Given the description of an element on the screen output the (x, y) to click on. 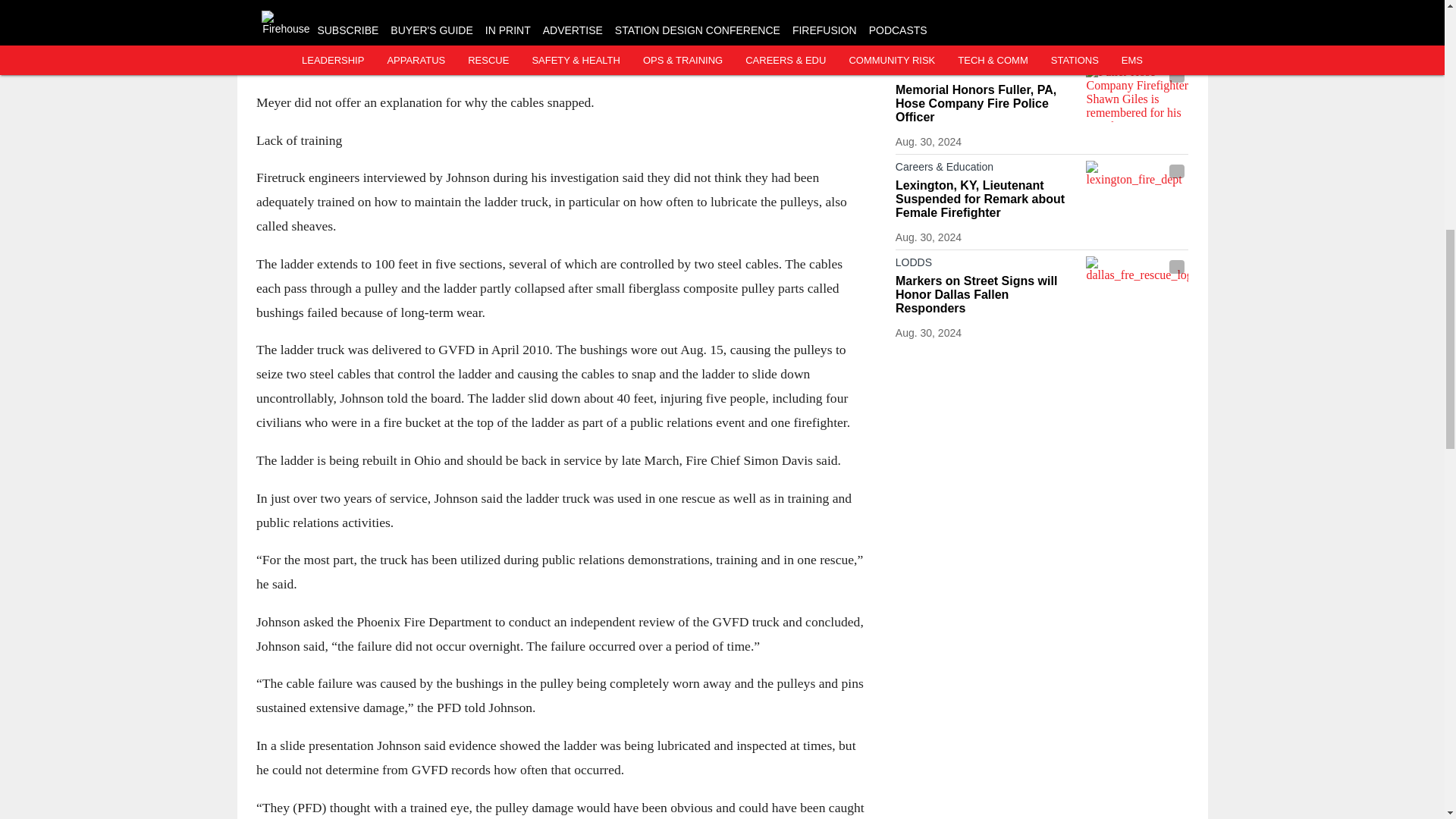
LODDS (986, 74)
Memorial Honors Fuller, PA, Hose Company Fire Police Officer (986, 103)
Men Arrested for Arson of Gloversville, NY, Warehouse (986, 14)
